Given the description of an element on the screen output the (x, y) to click on. 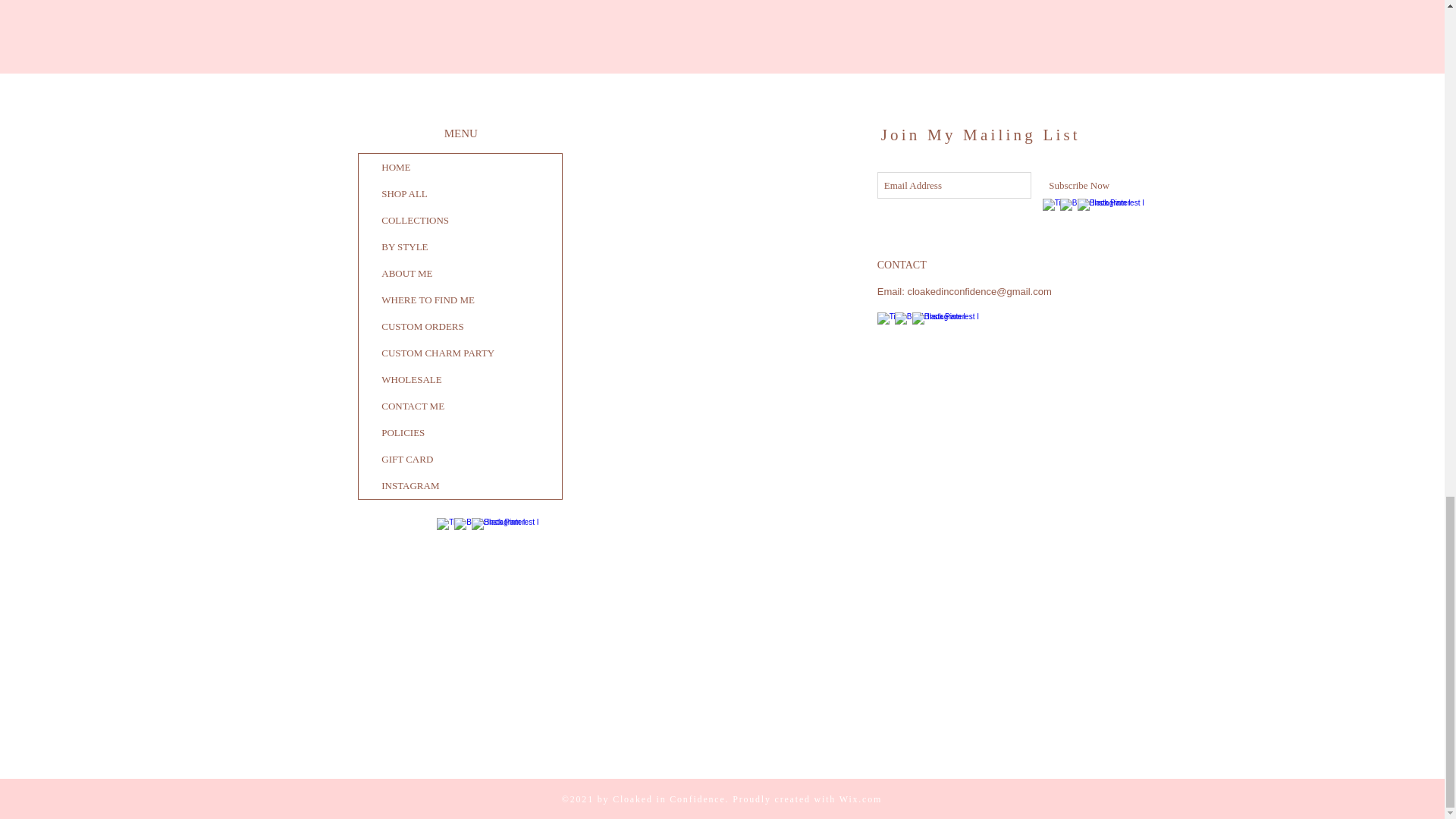
BY STYLE (460, 246)
HOME (460, 166)
SHOP ALL (460, 193)
COLLECTIONS (460, 220)
